Given the description of an element on the screen output the (x, y) to click on. 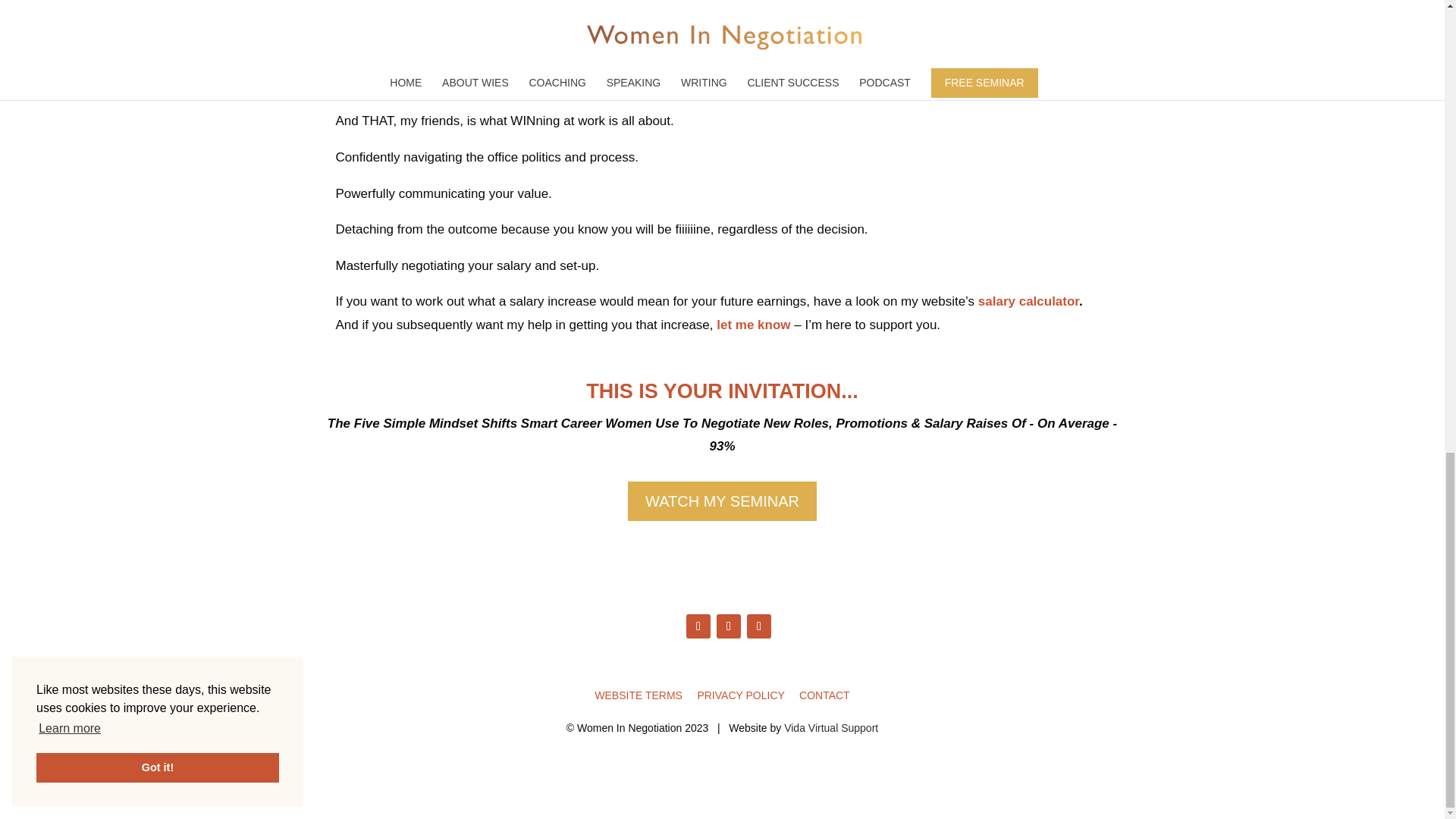
let me know (753, 324)
salary calculator (1028, 301)
Vida Virtual Support (830, 727)
WEBSITE TERMS (638, 695)
WATCH MY SEMINAR (721, 500)
Follow on Facebook (697, 626)
Follow on LinkedIn (758, 626)
Follow on Instagram (728, 626)
CONTACT (824, 695)
PRIVACY POLICY (740, 695)
